Given the description of an element on the screen output the (x, y) to click on. 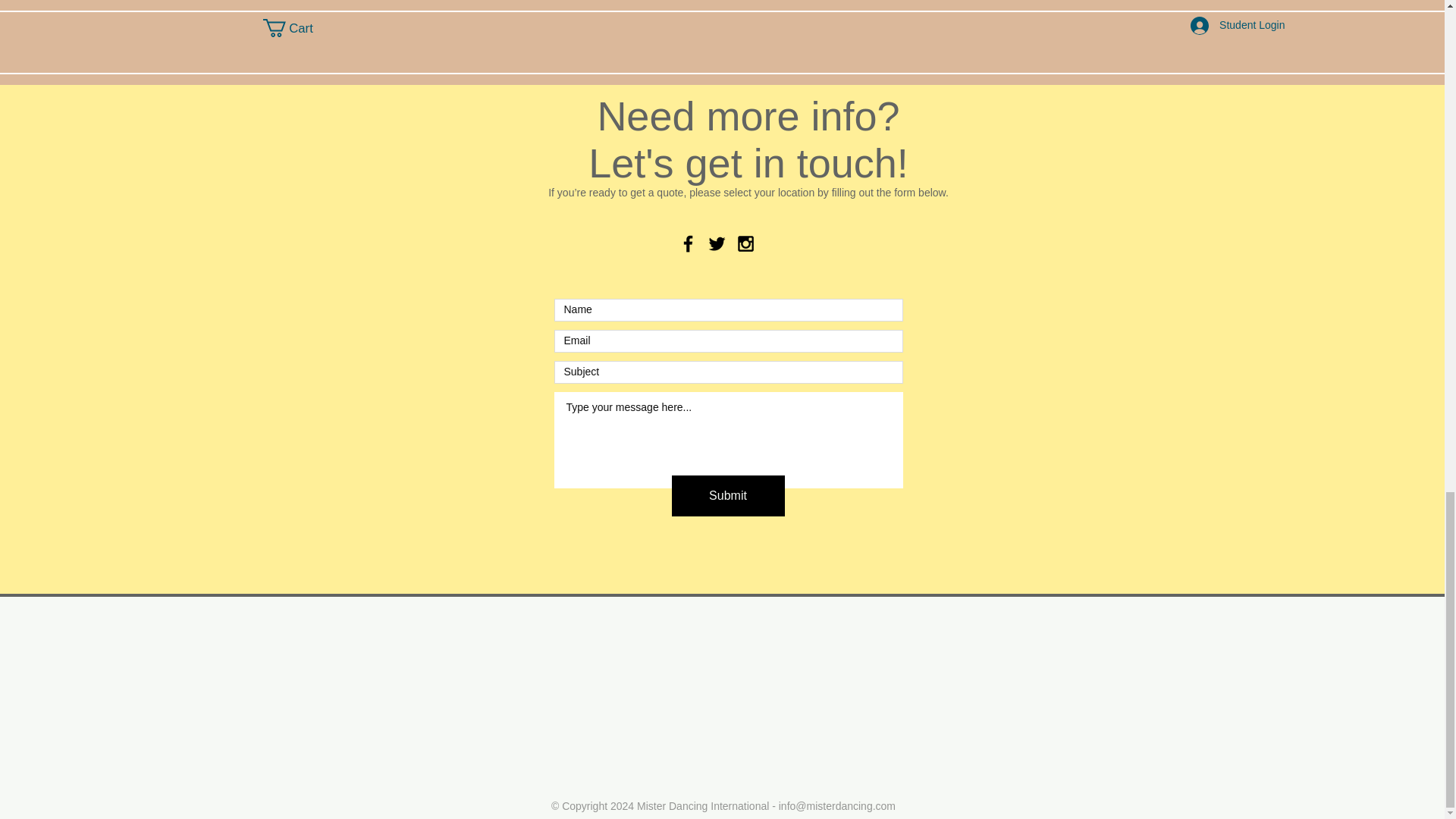
Submit (727, 495)
